Given the description of an element on the screen output the (x, y) to click on. 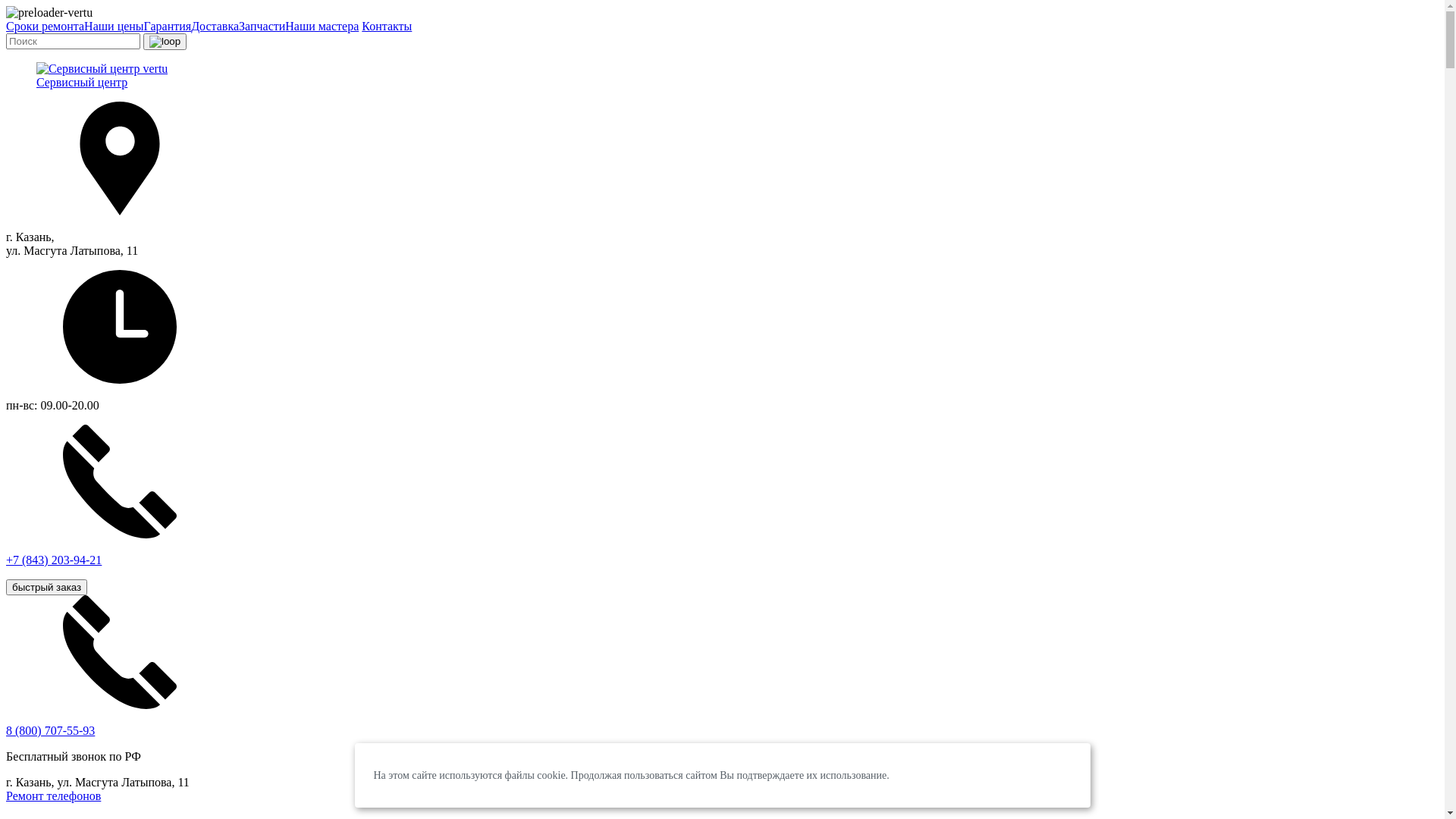
8 (800) 707-55-93 Element type: text (50, 730)
sisea.search Element type: text (164, 41)
+7 (843) 203-94-21 Element type: text (722, 508)
